Given the description of an element on the screen output the (x, y) to click on. 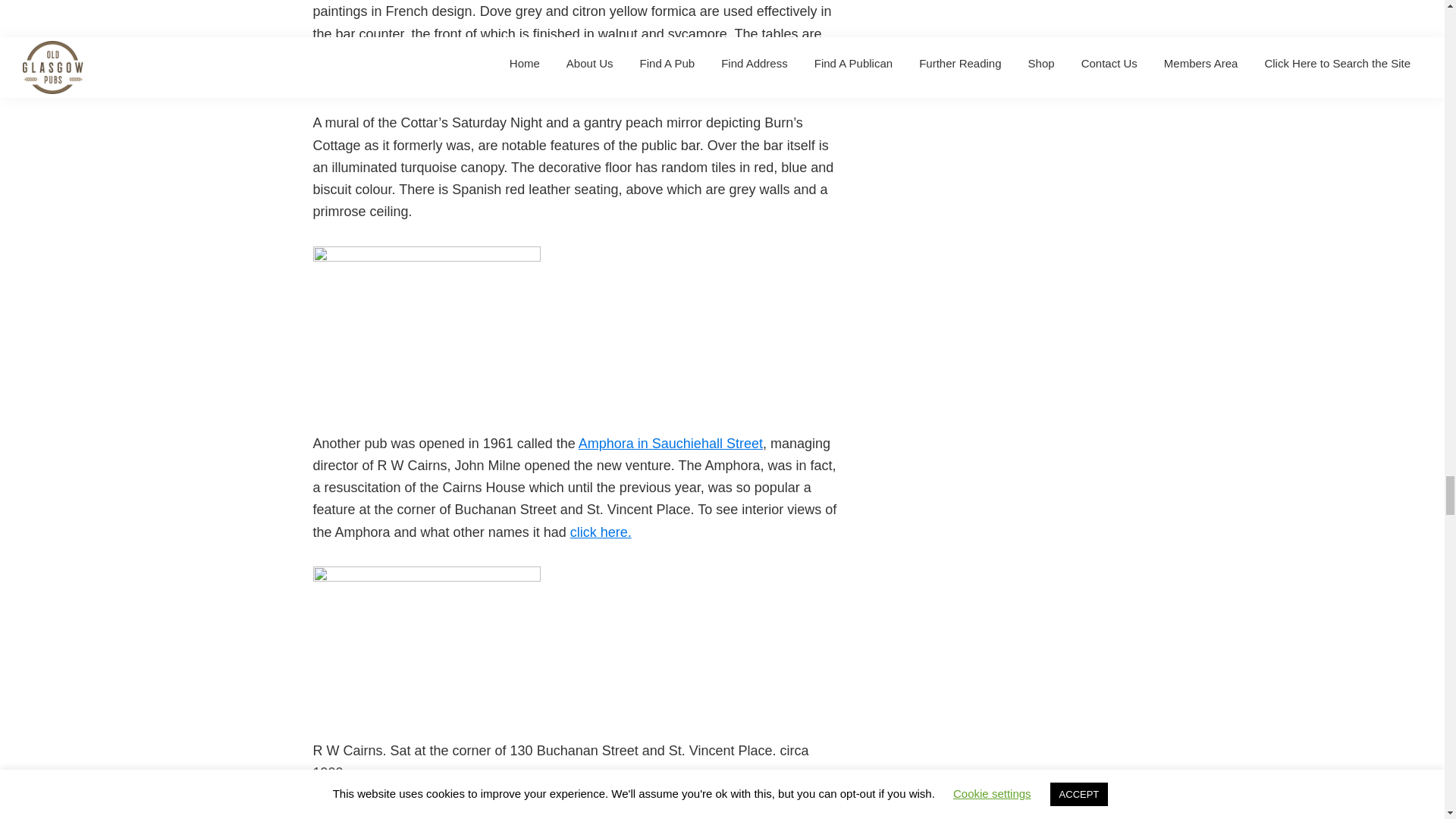
click here. (600, 531)
Amphora in Sauchiehall Street (670, 442)
